Given the description of an element on the screen output the (x, y) to click on. 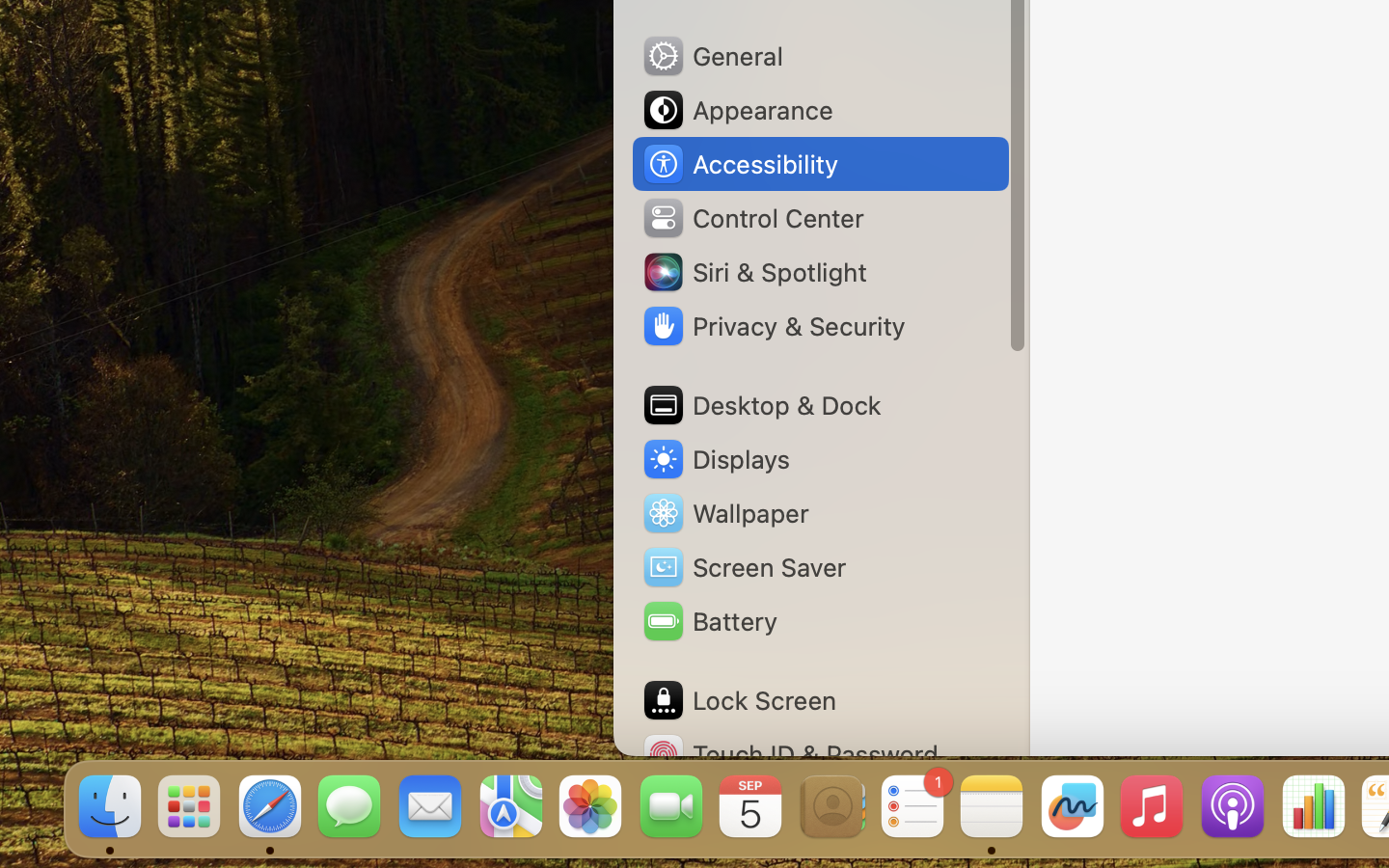
Privacy & Security Element type: AXStaticText (772, 325)
General Element type: AXStaticText (711, 55)
Battery Element type: AXStaticText (708, 620)
